Given the description of an element on the screen output the (x, y) to click on. 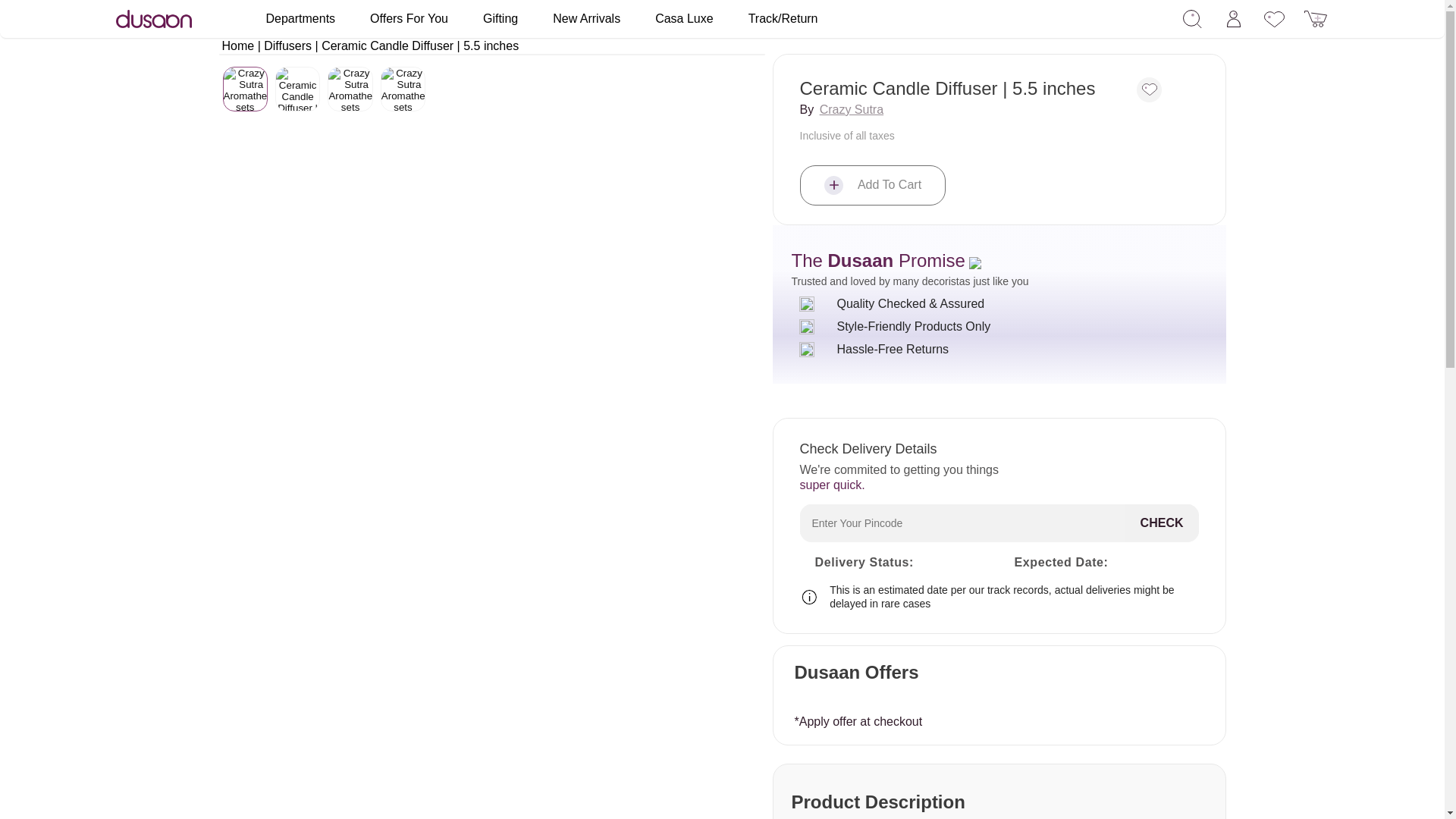
Home (237, 45)
Diffusers (287, 45)
Skip to content (45, 17)
Check (1161, 523)
Crazy Sutra (851, 109)
